Given the description of an element on the screen output the (x, y) to click on. 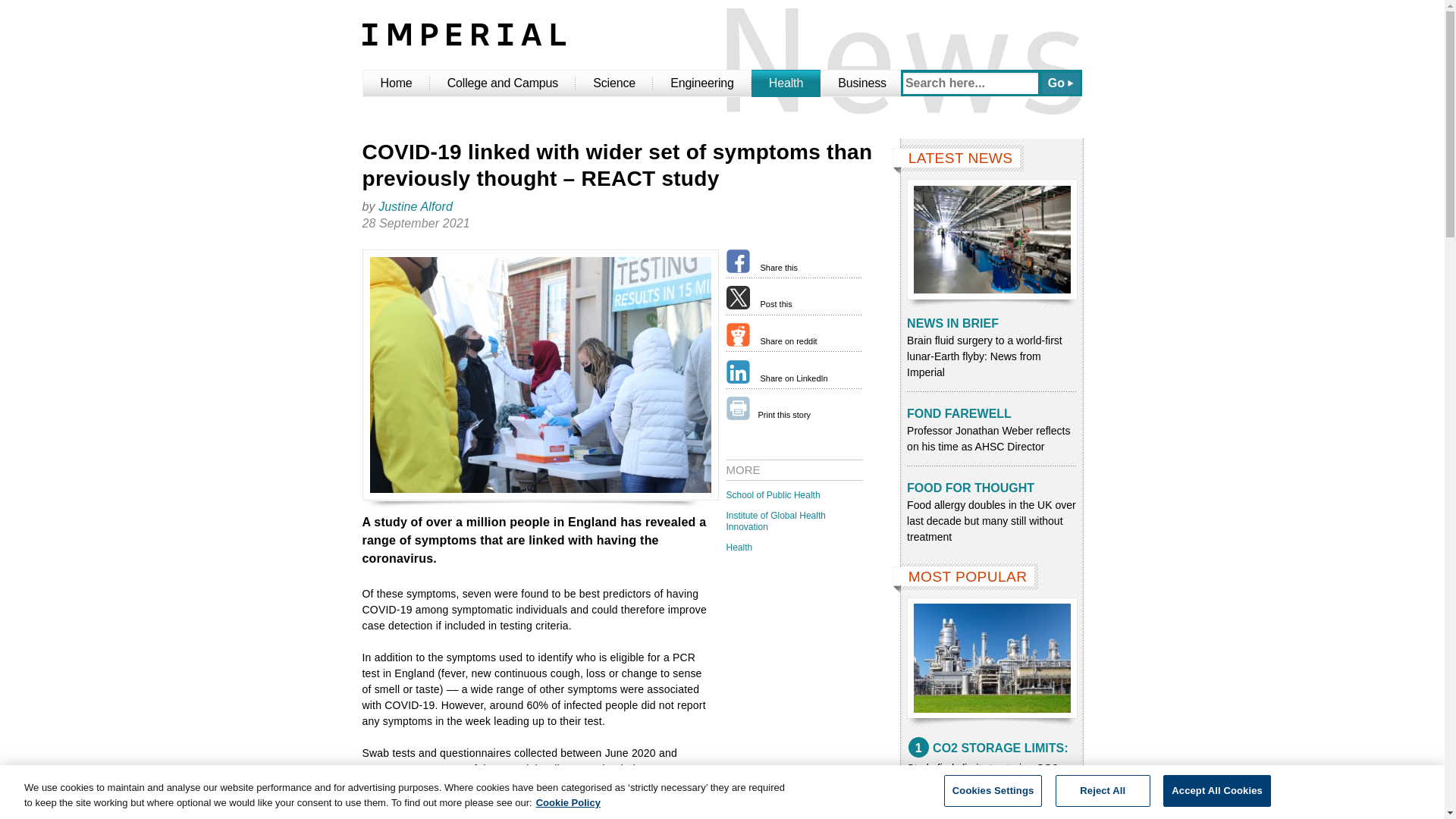
REACT-1 study (523, 776)
Science (613, 83)
Justine Alford (415, 205)
College and Campus (502, 83)
Home (395, 83)
